Given the description of an element on the screen output the (x, y) to click on. 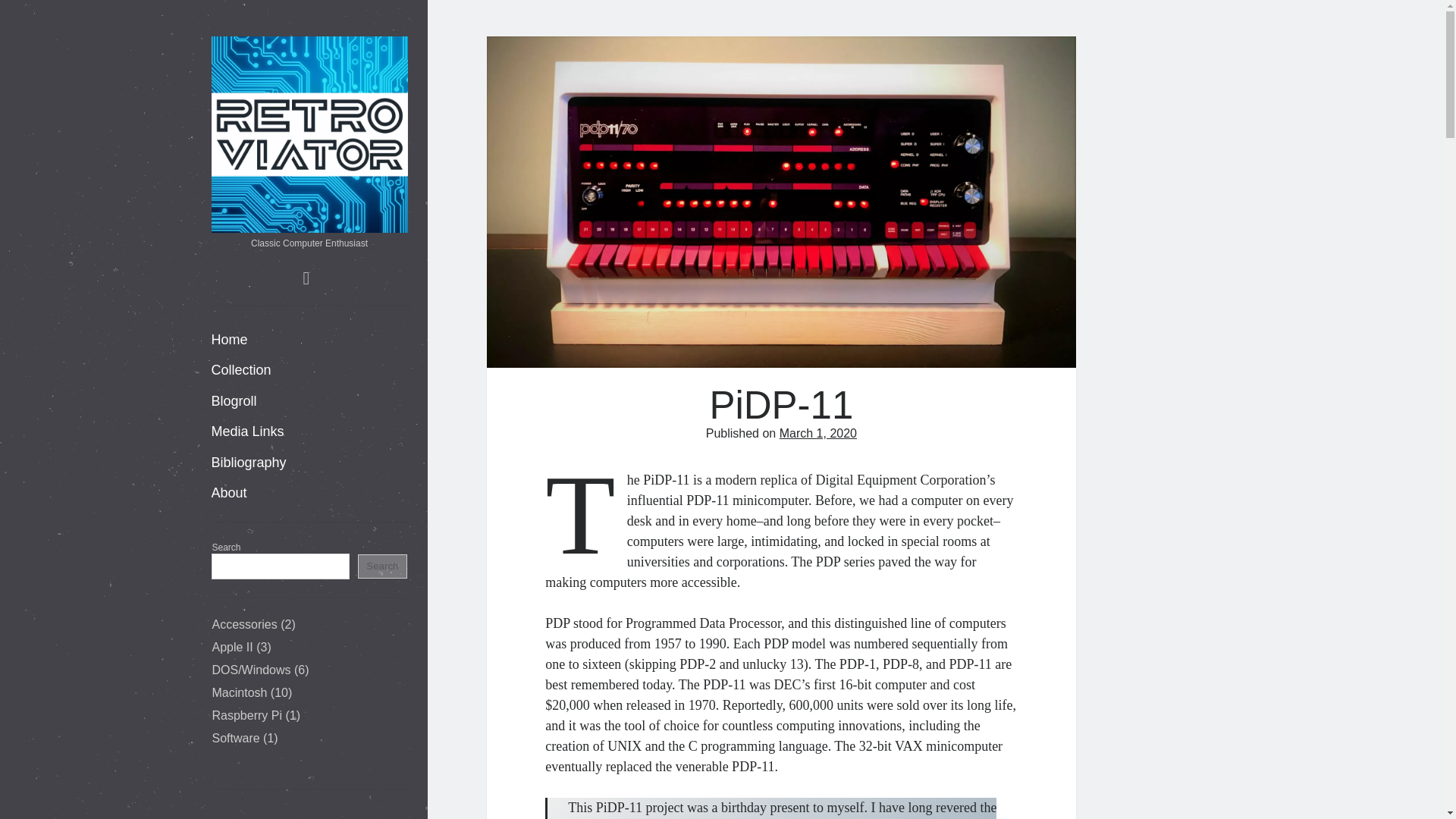
Retro Viator (309, 225)
Raspberry Pi (247, 715)
About (228, 493)
Blogroll (233, 401)
Apple II (232, 646)
Software (236, 738)
Accessories (245, 624)
Bibliography (248, 462)
Collection (240, 370)
Home (229, 340)
